Given the description of an element on the screen output the (x, y) to click on. 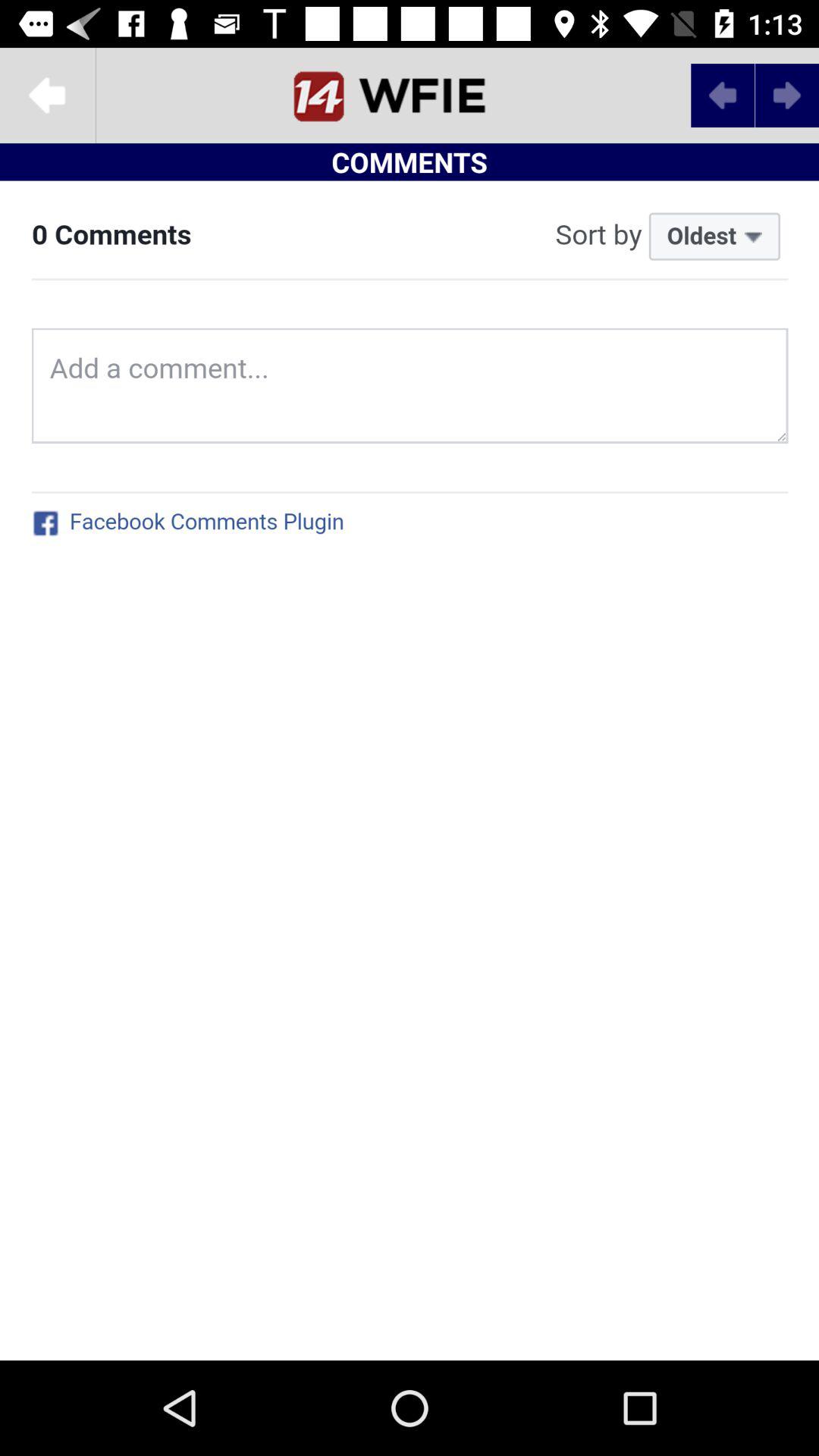
add comment (409, 770)
